Given the description of an element on the screen output the (x, y) to click on. 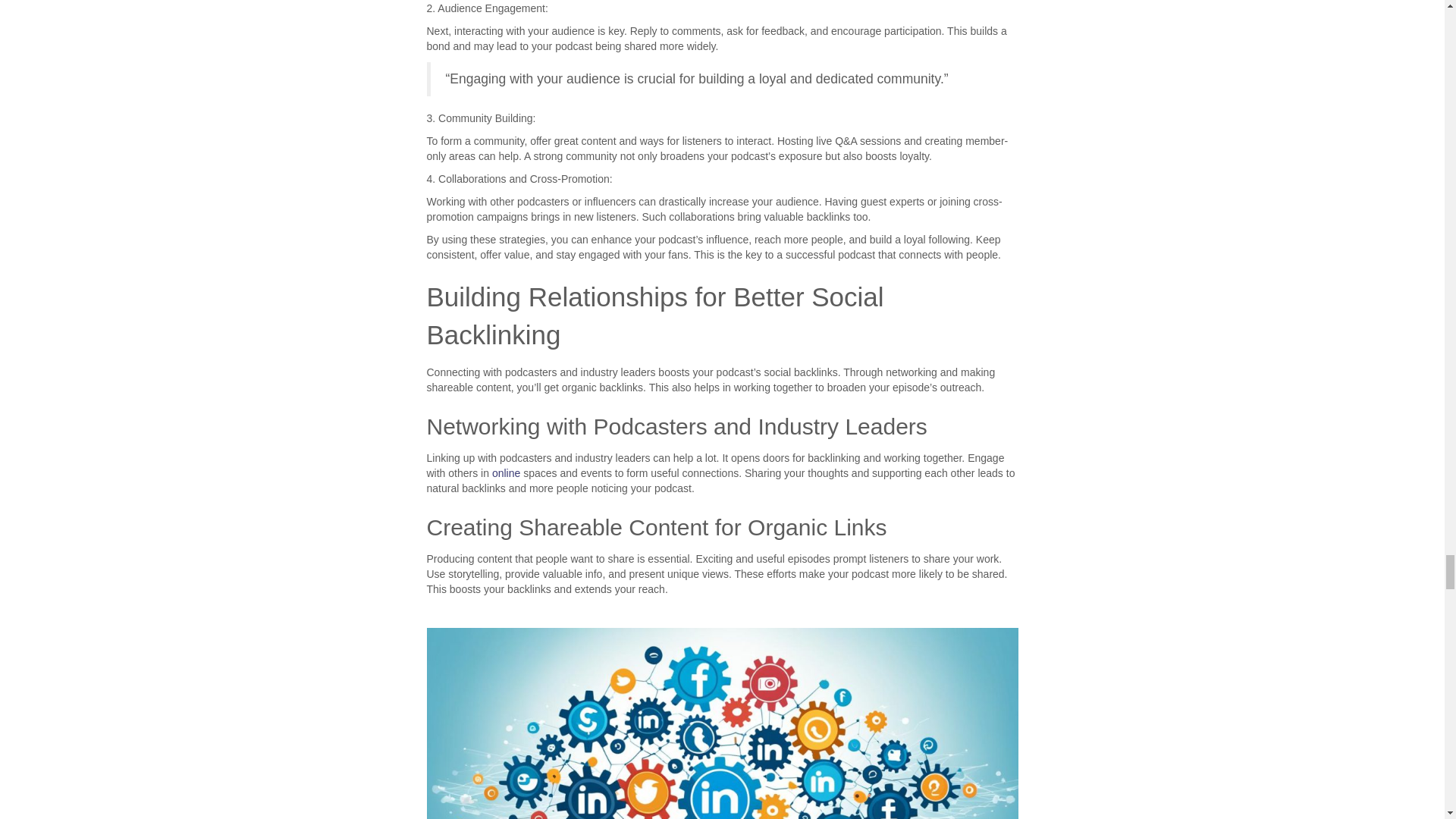
online (505, 472)
building relationships for podcast backlinking (721, 723)
